Given the description of an element on the screen output the (x, y) to click on. 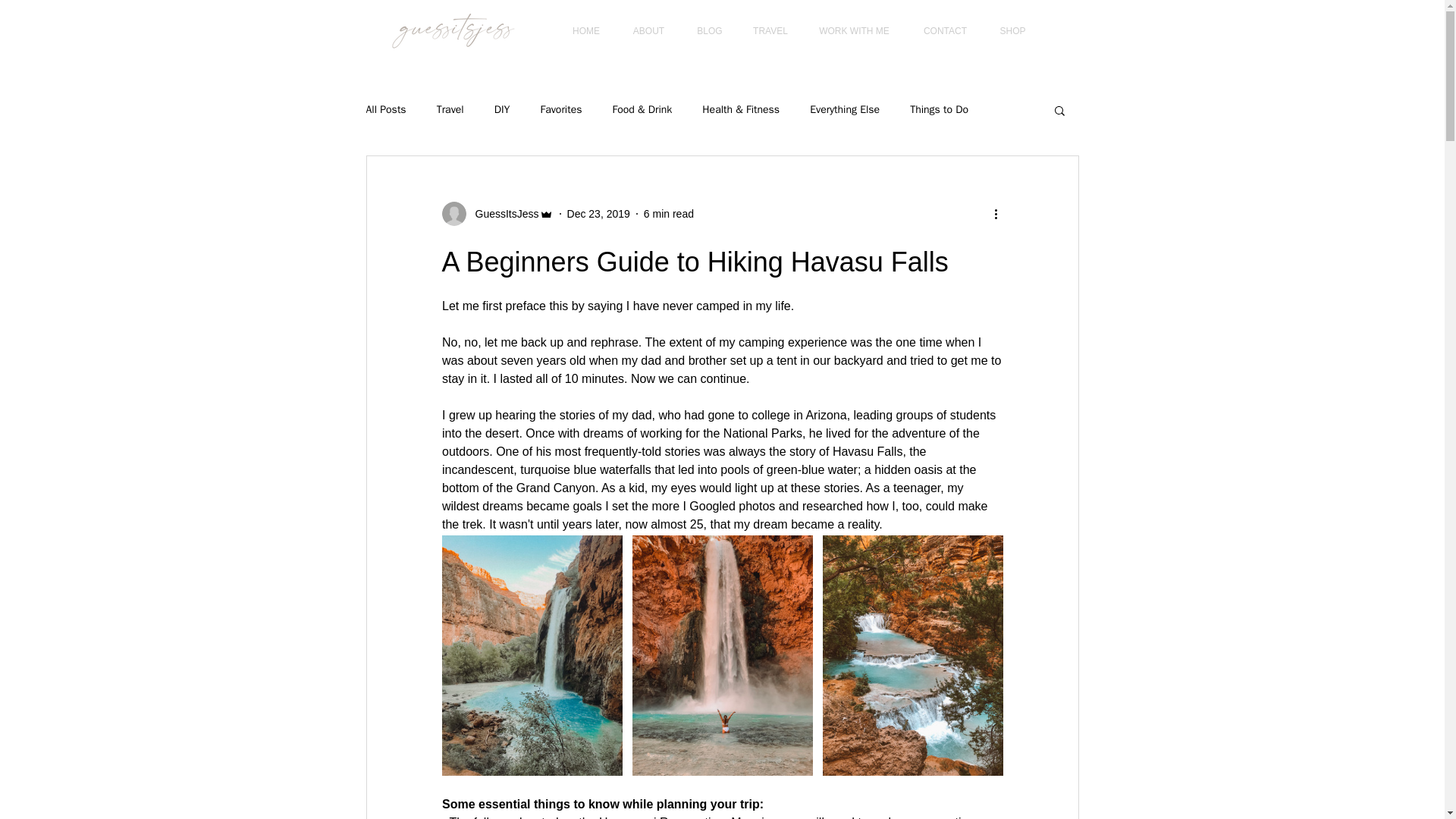
CONTACT (945, 31)
HOME (584, 31)
BLOG (710, 31)
GuessItsJess (501, 213)
DIY (503, 110)
All Posts (385, 110)
Everything Else (844, 110)
WORK WITH ME (854, 31)
Travel (450, 110)
SHOP (1013, 31)
